Given the description of an element on the screen output the (x, y) to click on. 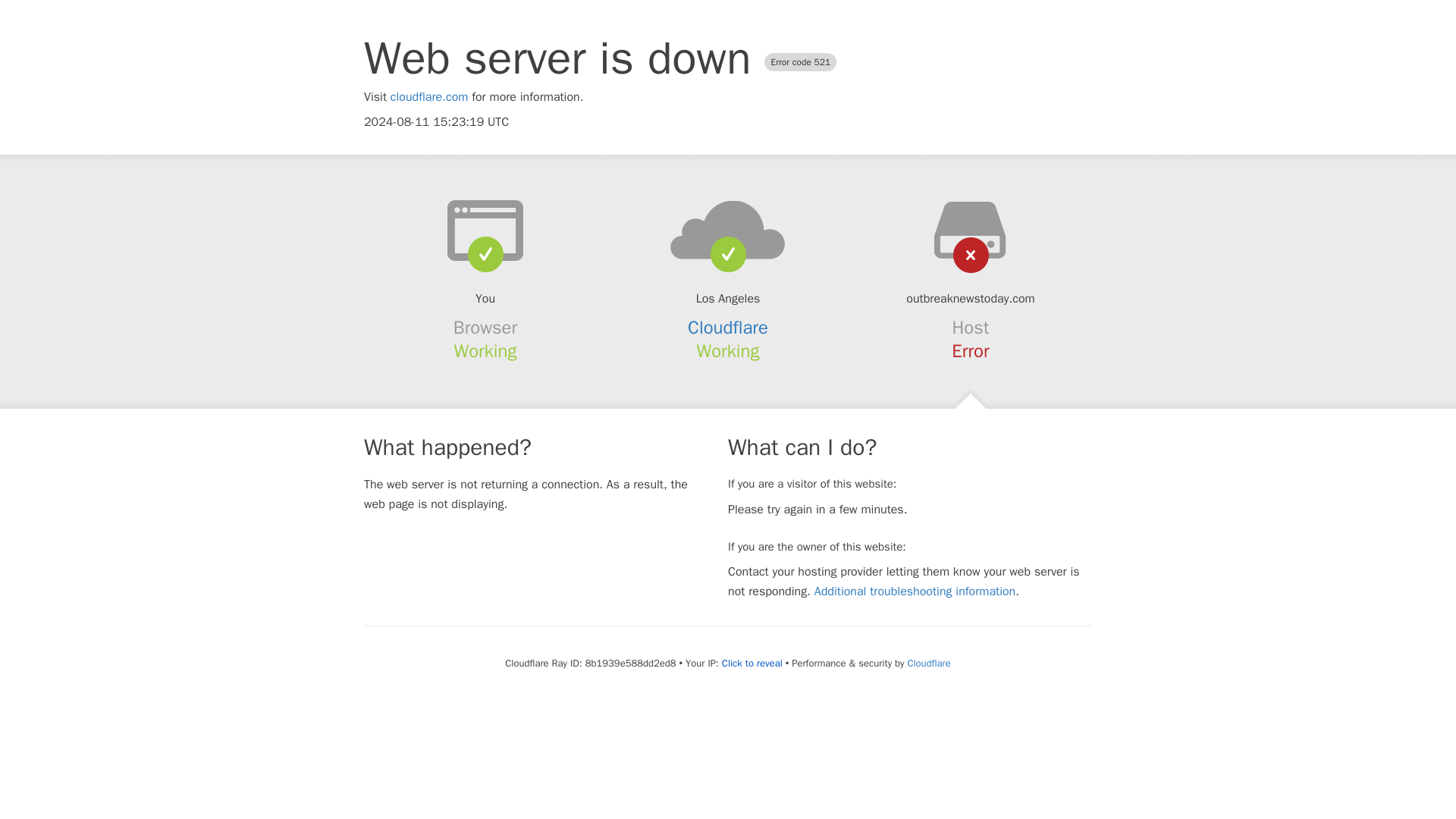
cloudflare.com (429, 96)
Cloudflare (727, 327)
Click to reveal (752, 663)
Additional troubleshooting information (913, 590)
Cloudflare (928, 662)
